Given the description of an element on the screen output the (x, y) to click on. 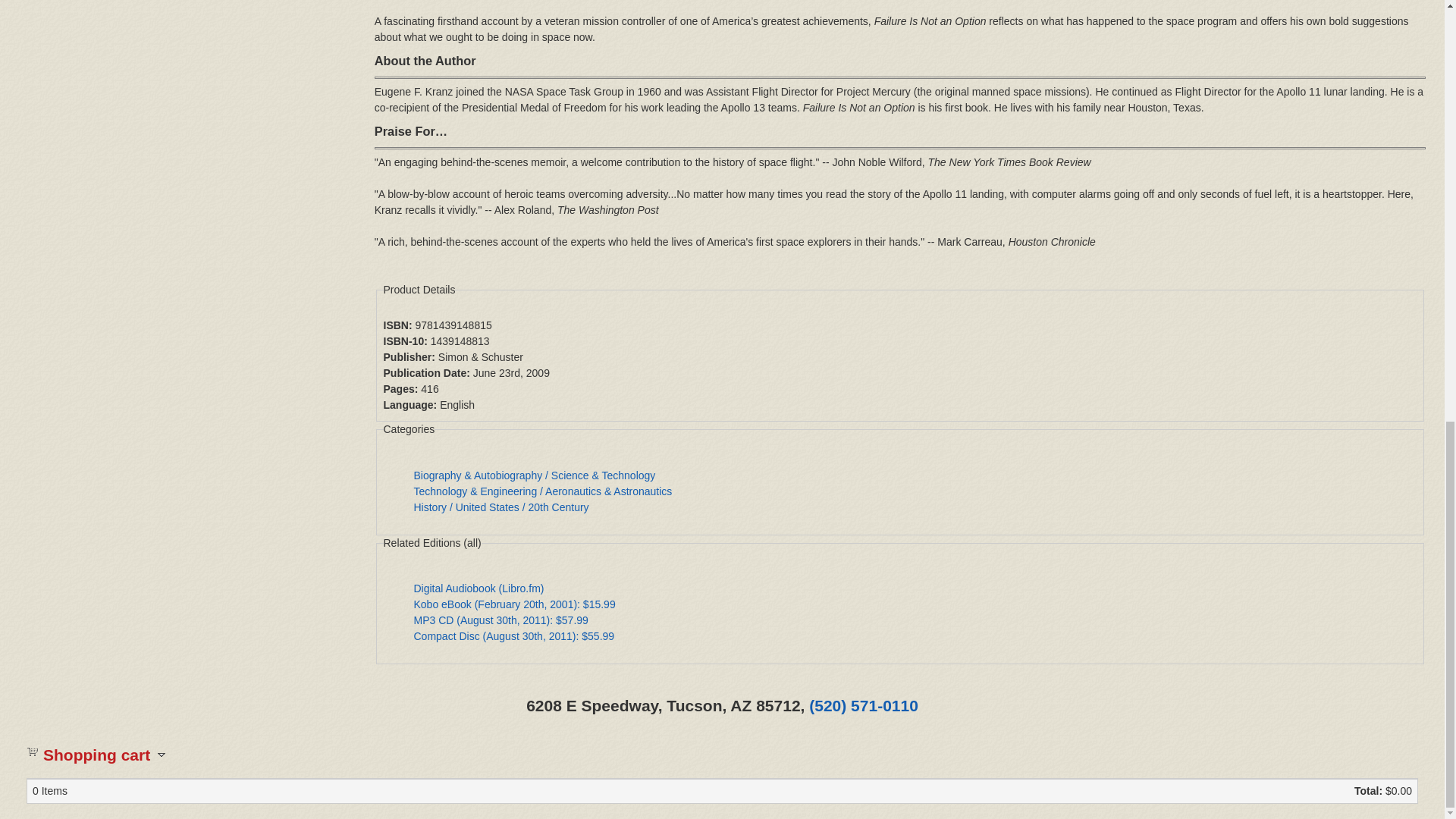
View your shopping cart. (32, 750)
